Given the description of an element on the screen output the (x, y) to click on. 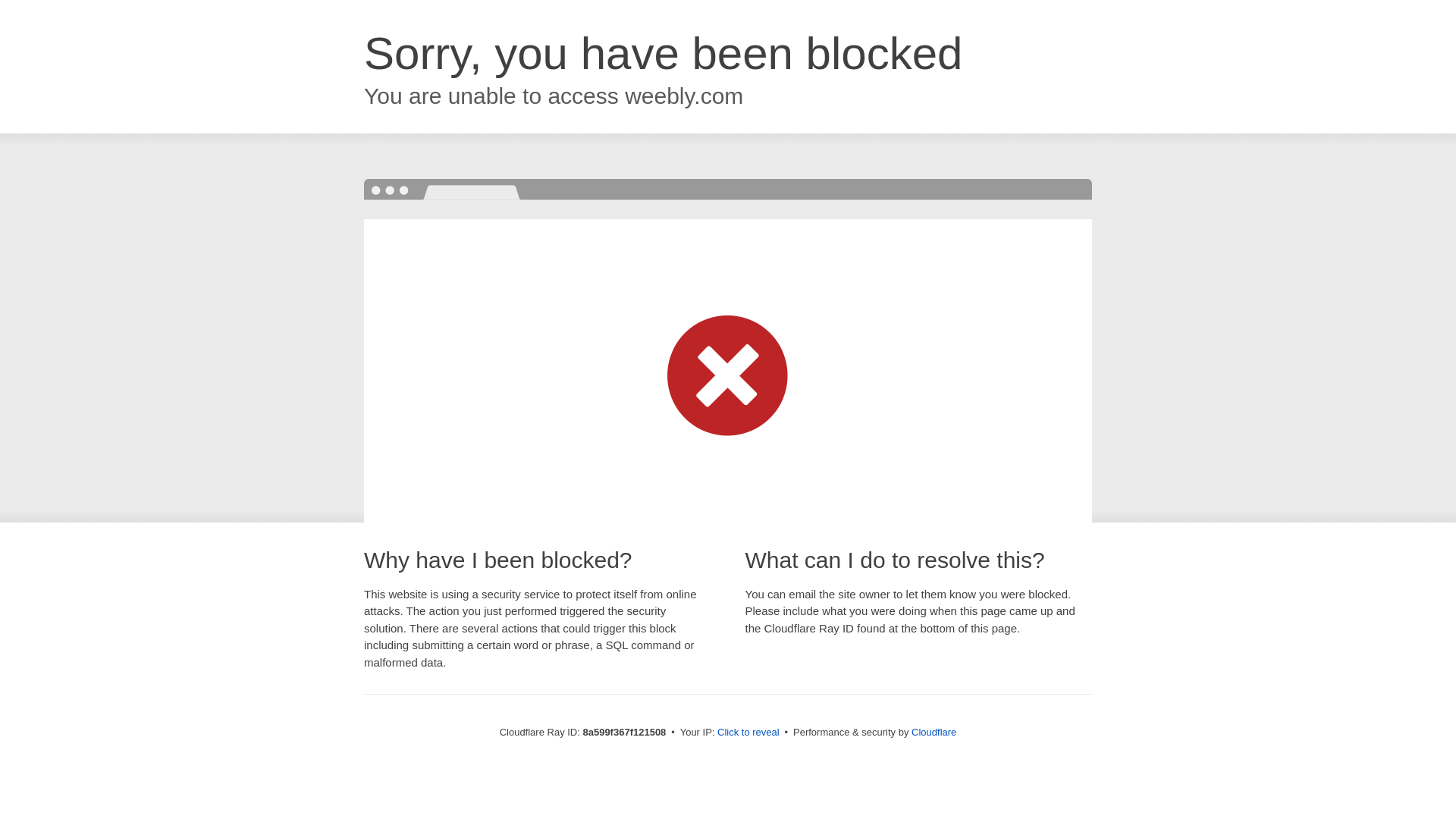
Click to reveal (747, 732)
Cloudflare (933, 731)
